Given the description of an element on the screen output the (x, y) to click on. 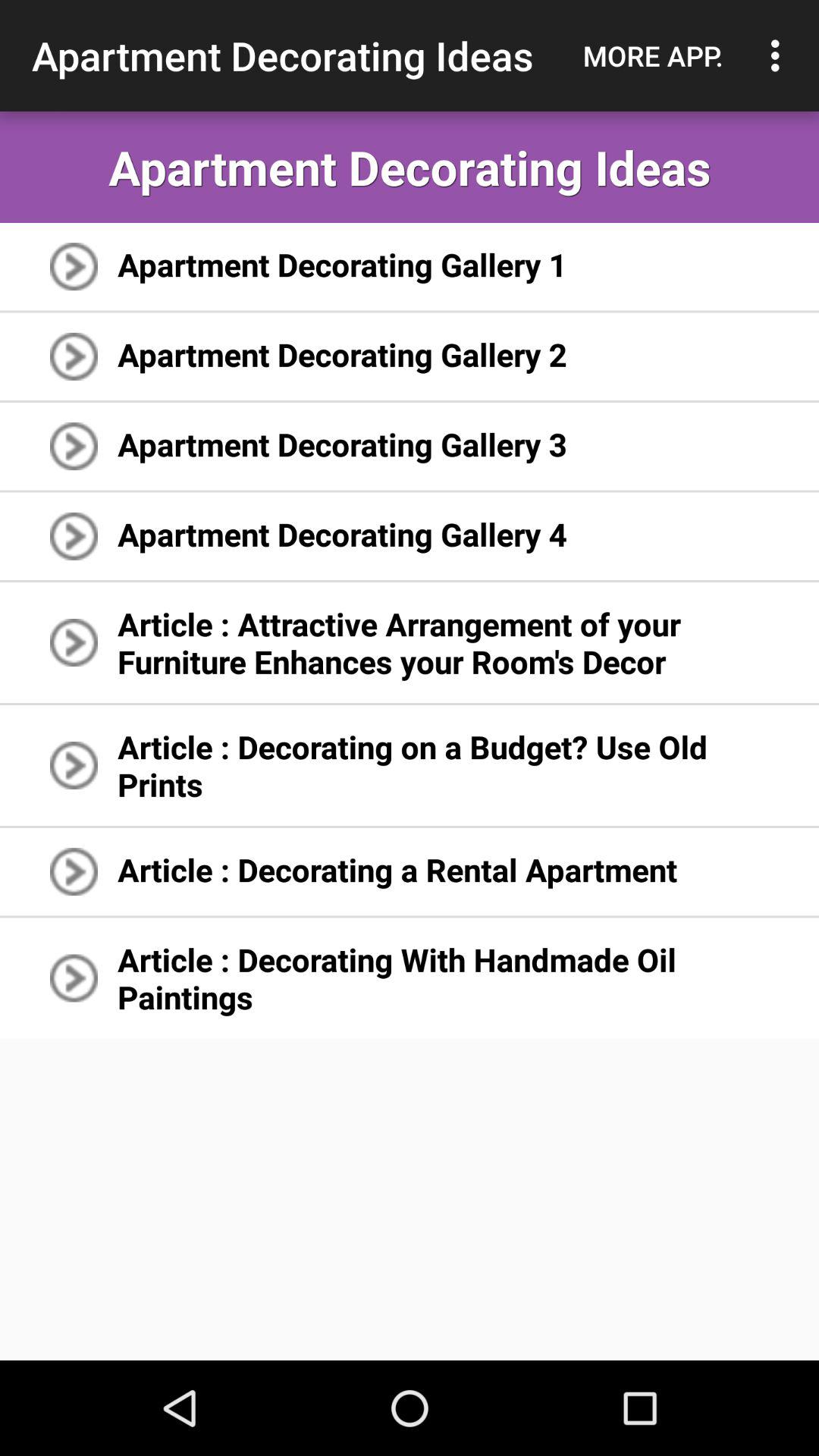
flip to more app. (653, 55)
